Given the description of an element on the screen output the (x, y) to click on. 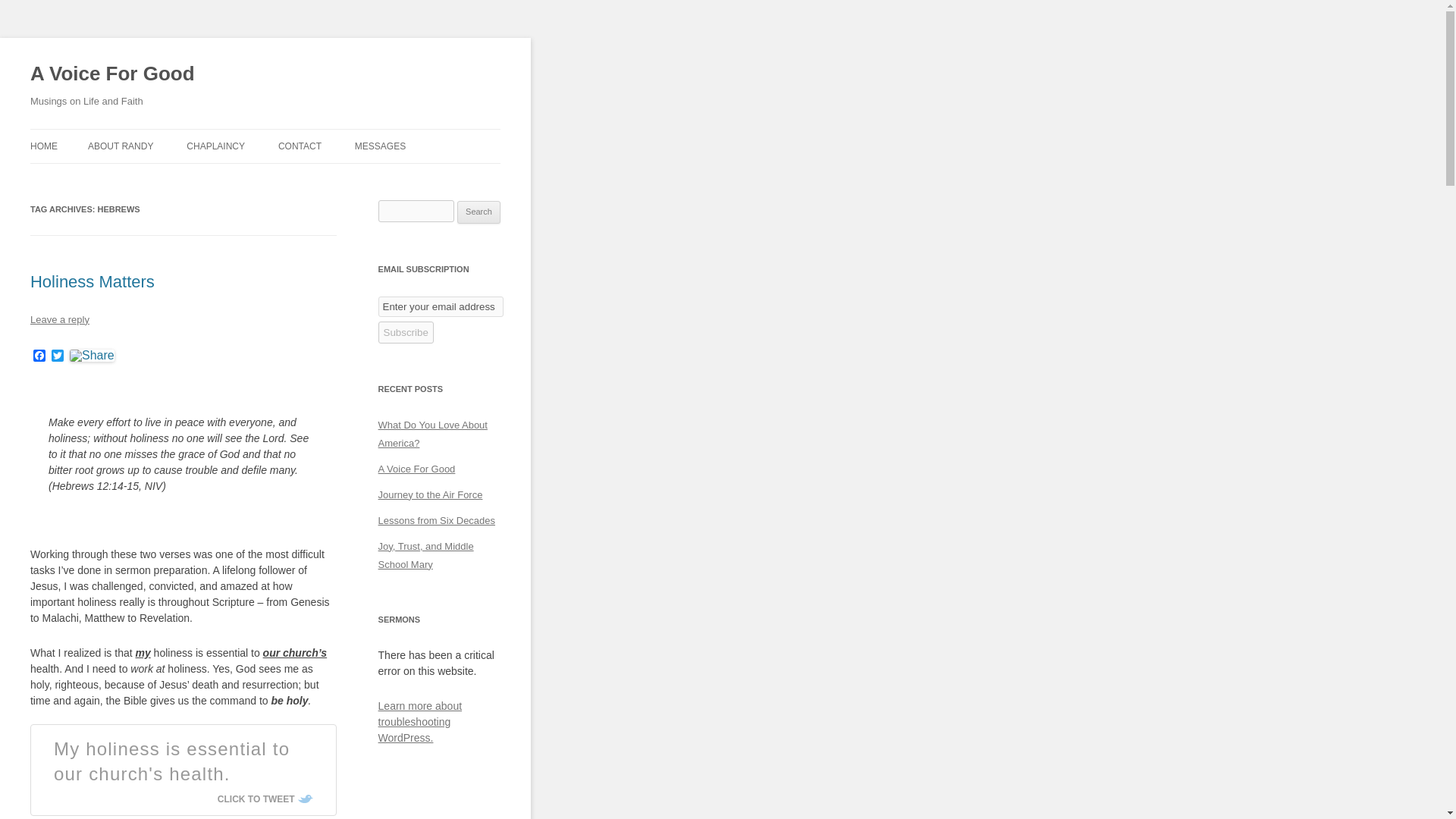
CLICK TO TWEET (264, 798)
Enter your email address (440, 306)
CONTACT (299, 145)
My holiness is essential to our church's health. (171, 761)
Search (478, 211)
CHAPLAINCY (215, 145)
Enter your email address (440, 306)
Twitter (57, 356)
Facebook (39, 356)
